Given the description of an element on the screen output the (x, y) to click on. 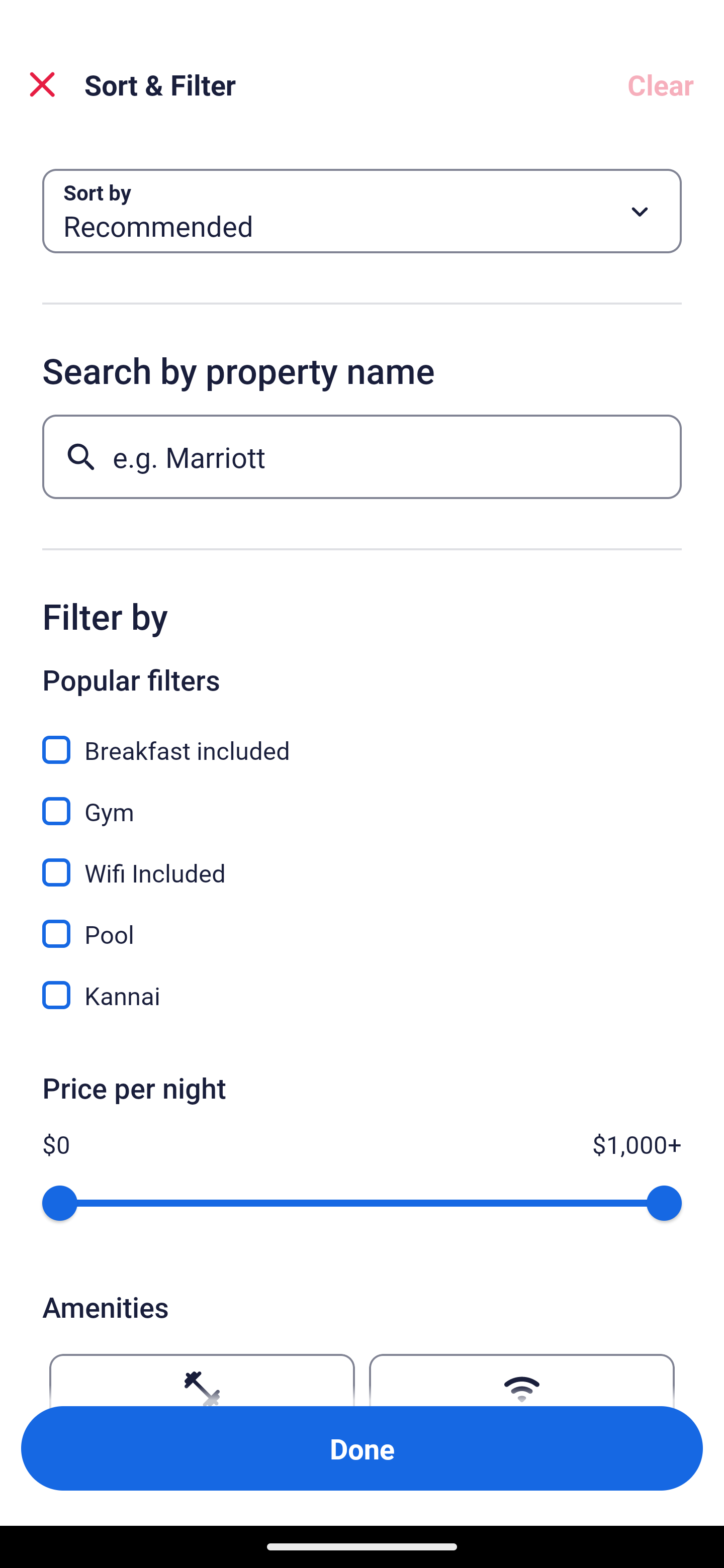
Close Sort and Filter (42, 84)
Clear (660, 84)
Sort by Button Recommended (361, 211)
e.g. Marriott Button (361, 455)
Breakfast included, Breakfast included (361, 738)
Gym, Gym (361, 800)
Wifi Included, Wifi Included (361, 861)
Pool, Pool (361, 922)
Kannai, Kannai (361, 995)
Apply and close Sort and Filter Done (361, 1448)
